Given the description of an element on the screen output the (x, y) to click on. 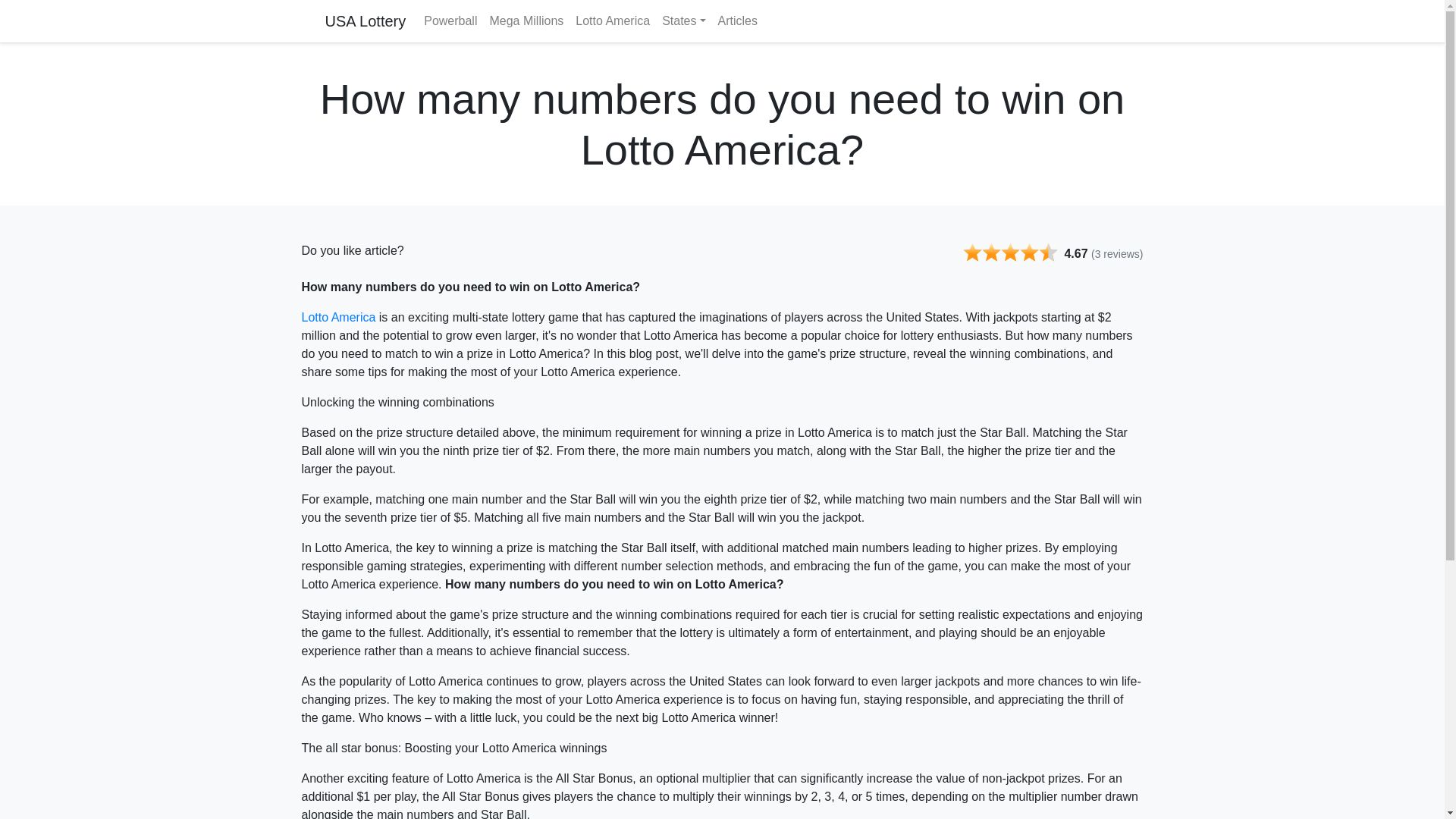
Lotto America (612, 20)
Mega Millions (526, 20)
USA Lottery (365, 20)
States (683, 20)
Powerball (450, 20)
